Given the description of an element on the screen output the (x, y) to click on. 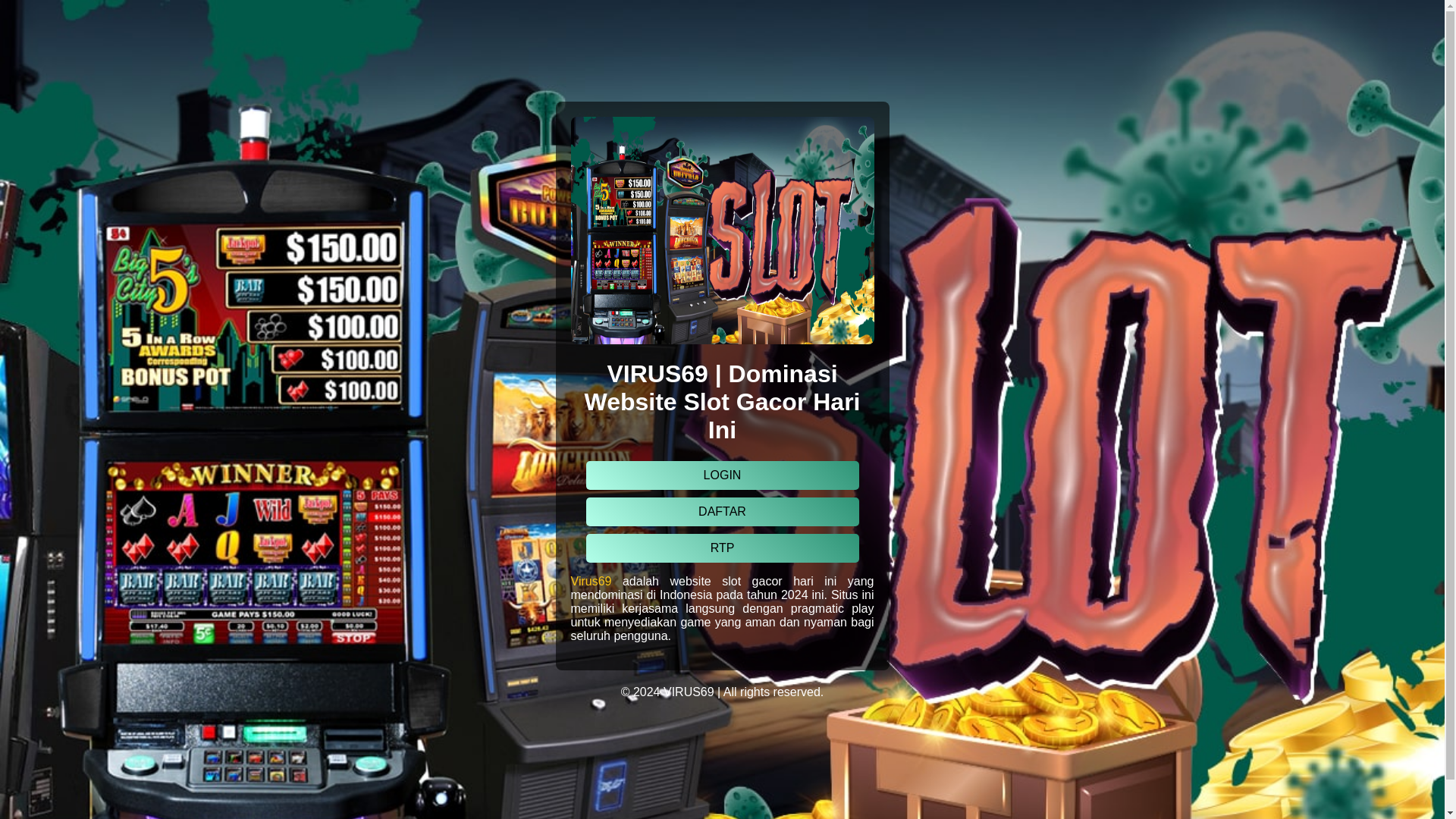
LOGIN (722, 475)
Virus69 (590, 581)
DAFTAR (722, 511)
RTP (722, 547)
